Given the description of an element on the screen output the (x, y) to click on. 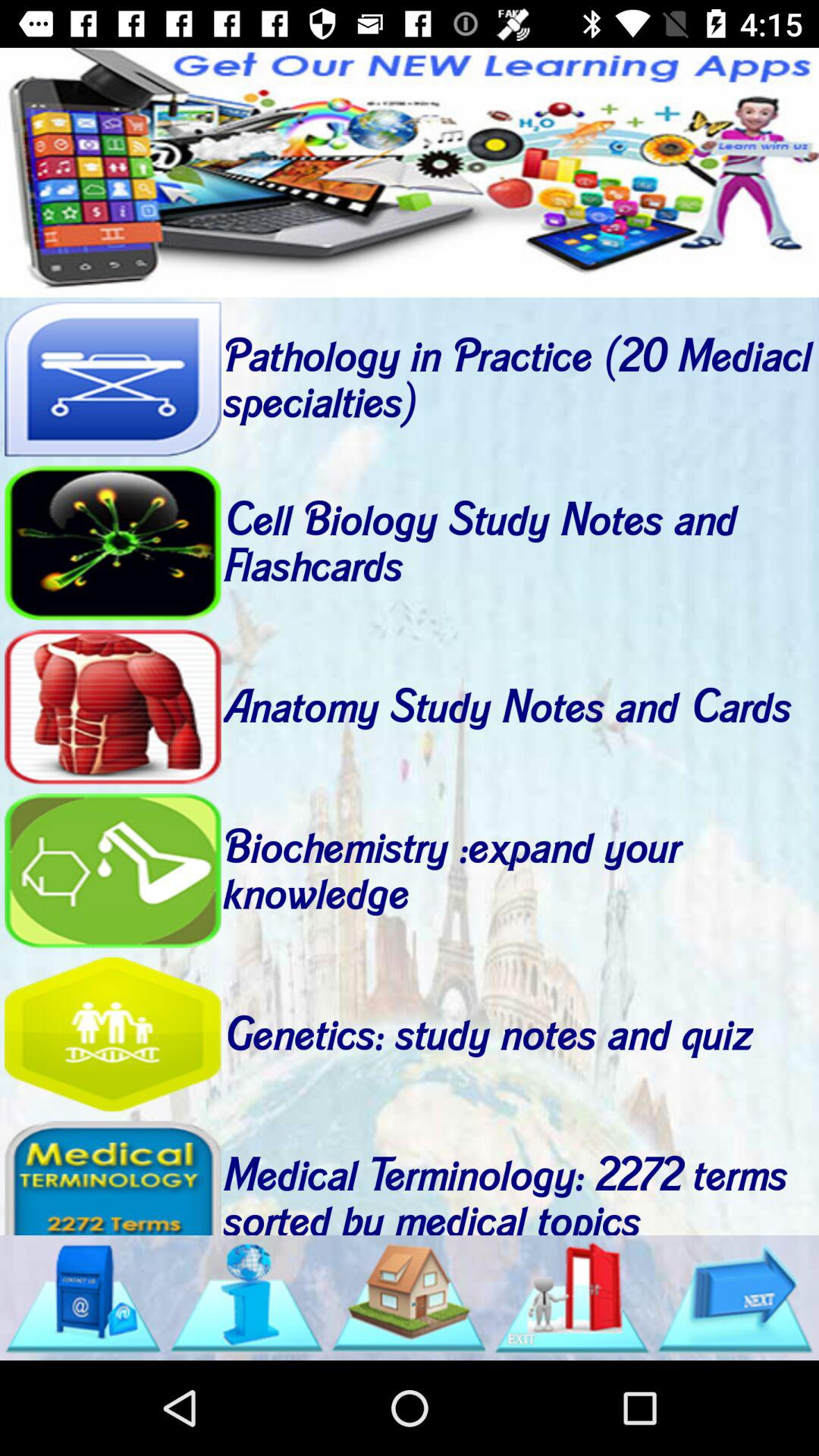
pathology in practice (112, 378)
